Given the description of an element on the screen output the (x, y) to click on. 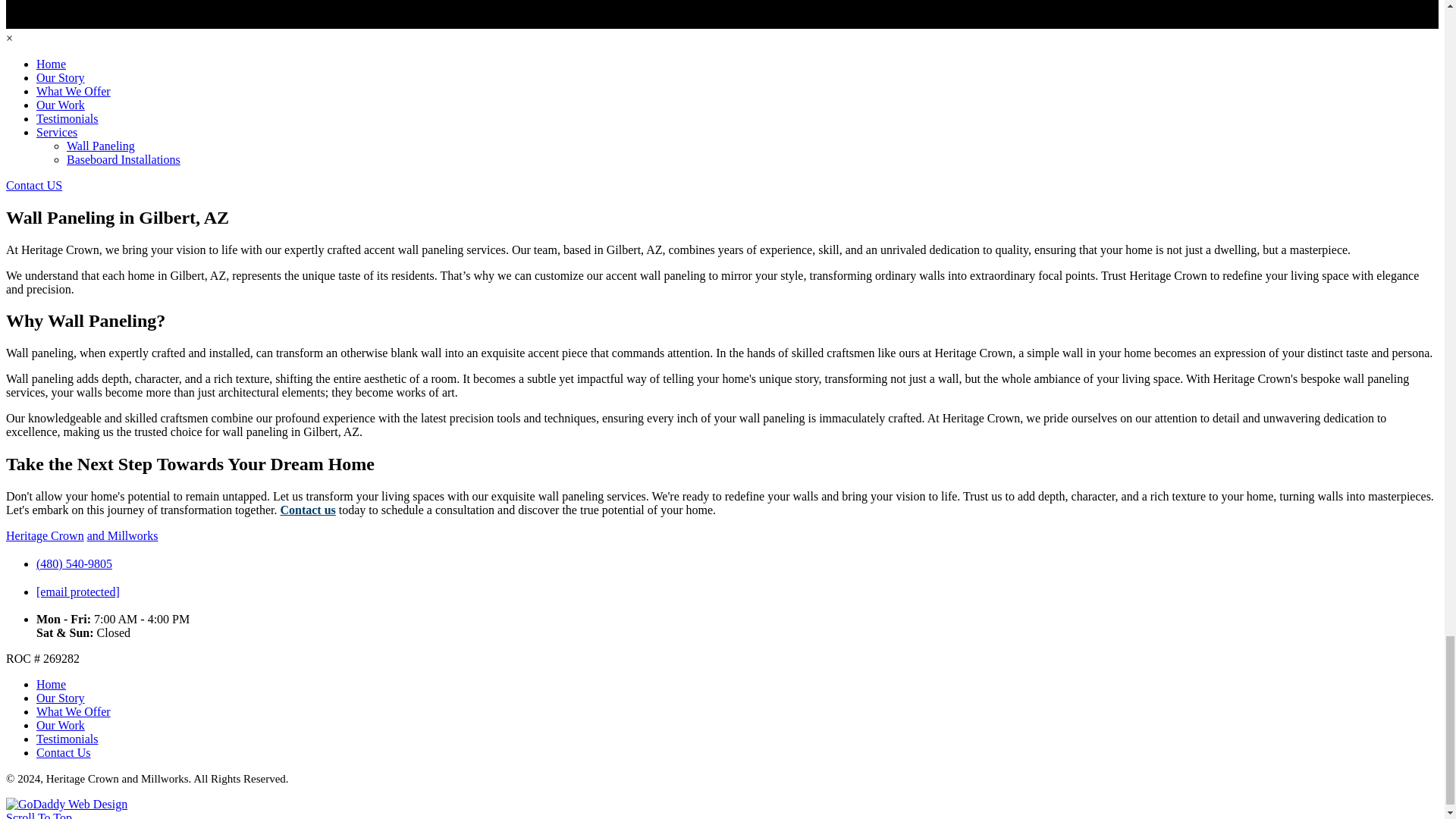
What We Offer (73, 711)
and Millworks (122, 535)
Testimonials (67, 118)
Wall Paneling (100, 145)
Our Work (60, 725)
Contact us (306, 509)
Heritage Crown (44, 535)
Our Story (60, 77)
What We Offer (73, 91)
Contact US (33, 185)
Services (56, 132)
Testimonials (67, 738)
Our Story (60, 697)
Our Work (60, 104)
Home (50, 684)
